Given the description of an element on the screen output the (x, y) to click on. 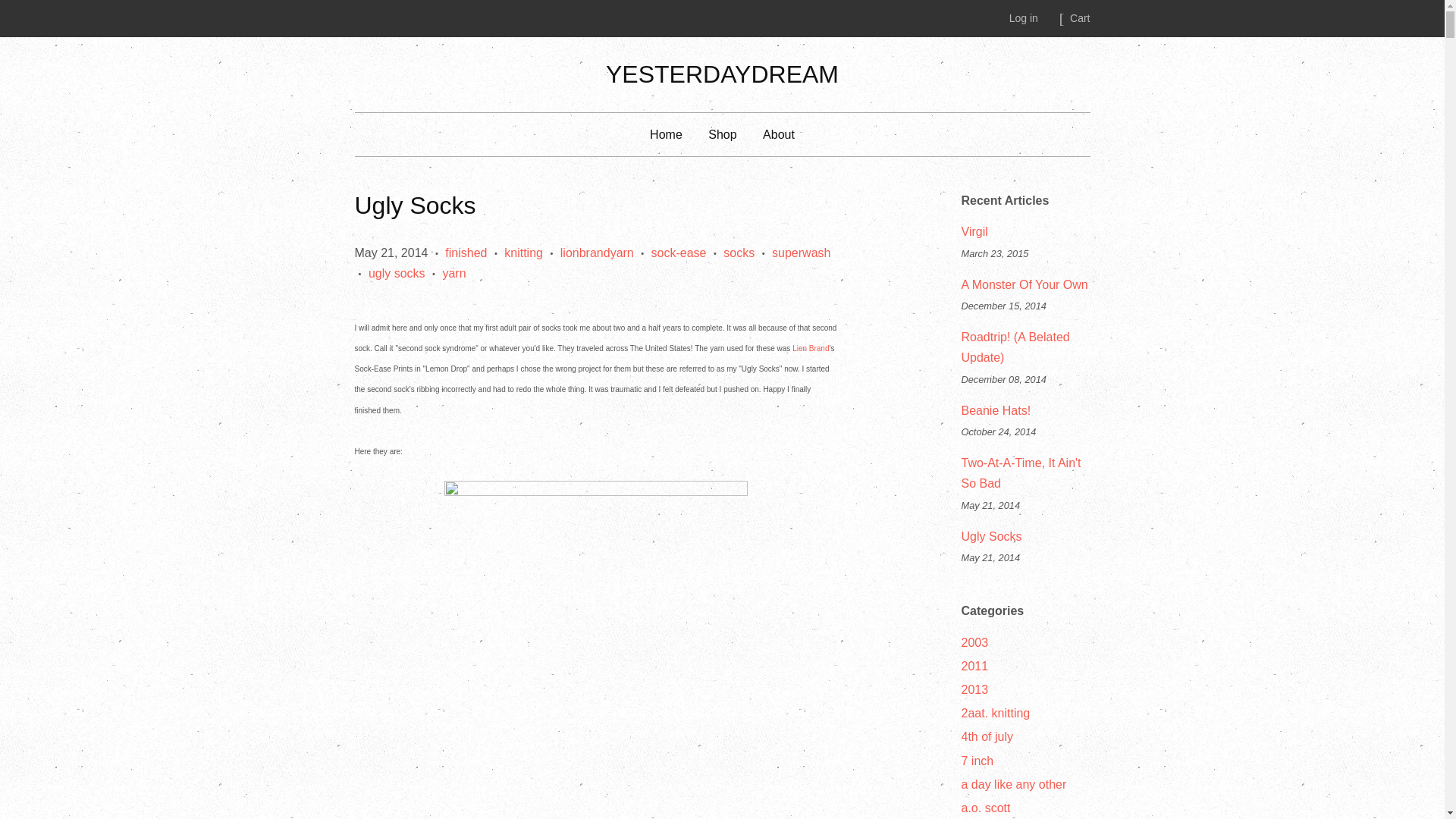
Lion Brand (810, 347)
superwash (800, 252)
knitting (523, 252)
Beanie Hats! (995, 410)
Show articles tagged 2aat. knitting (995, 712)
Cart (1079, 18)
2011 (974, 666)
Home (671, 134)
Show articles tagged 2013 (974, 689)
Shop (722, 134)
2003 (974, 642)
ugly socks (396, 273)
yarn (453, 273)
Two-At-A-Time, It Ain't So Bad (1020, 472)
Show articles tagged 7 inch (977, 760)
